Given the description of an element on the screen output the (x, y) to click on. 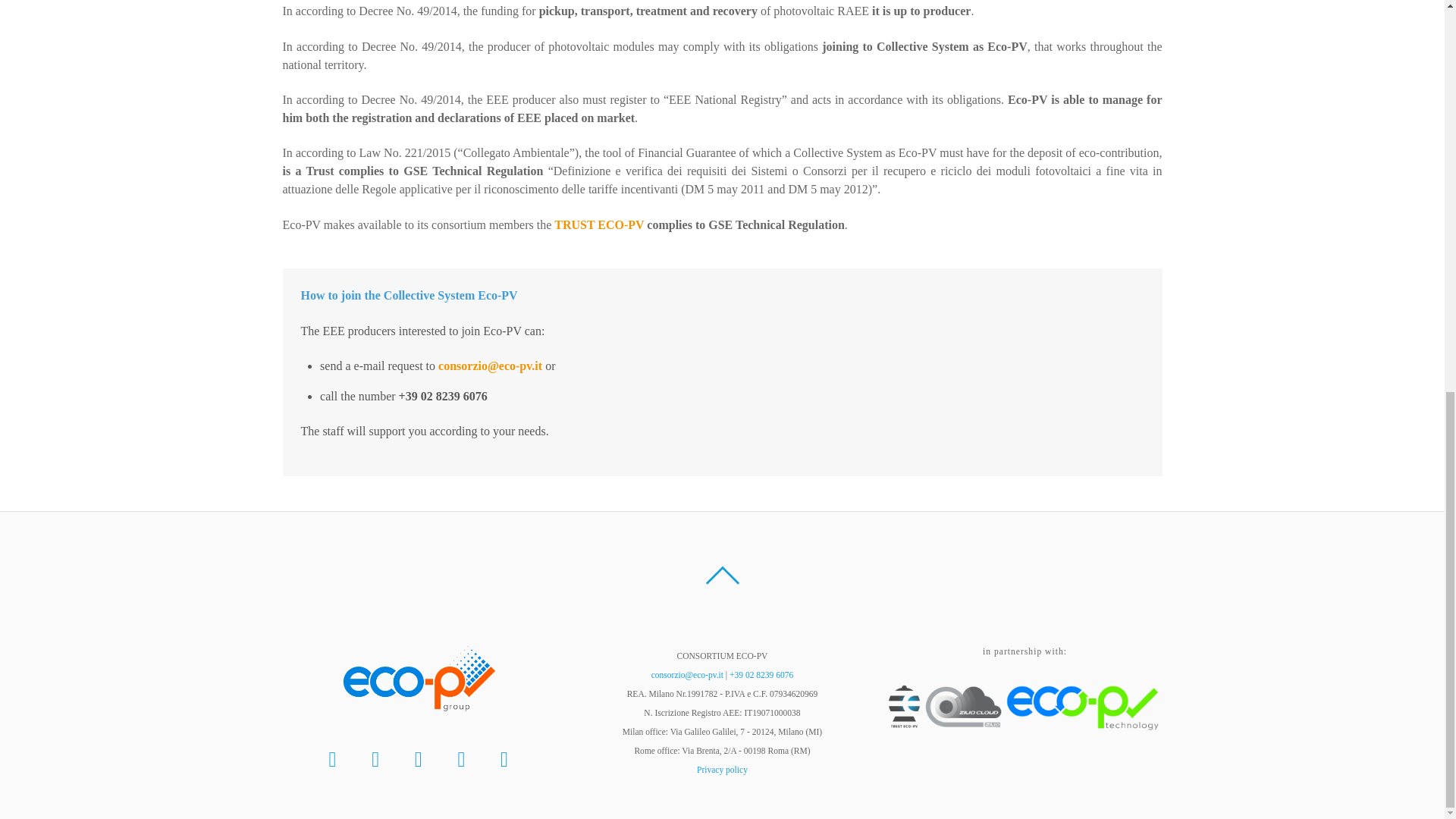
TRUST ECO-PV (600, 224)
Privacy policy (722, 768)
